Given the description of an element on the screen output the (x, y) to click on. 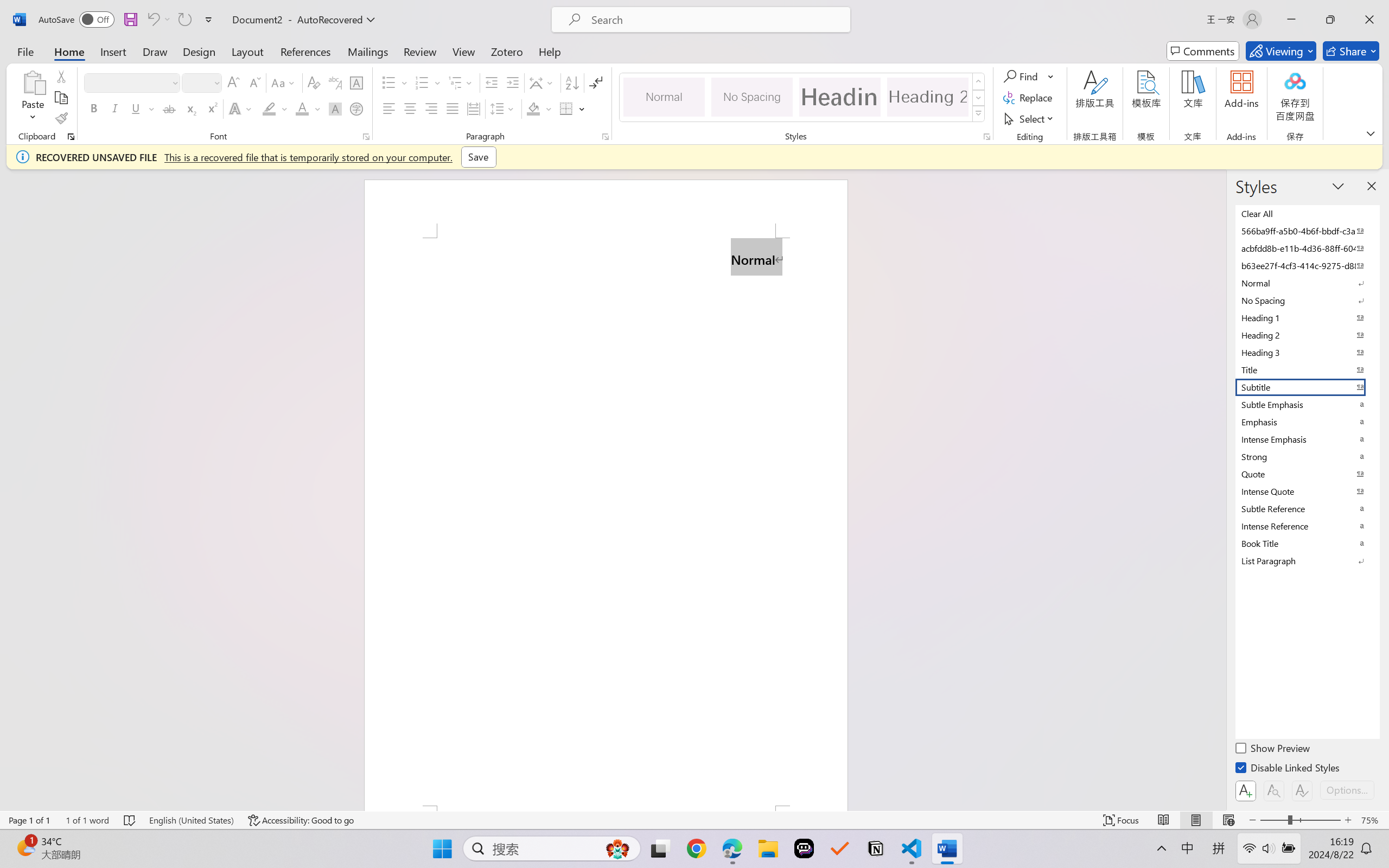
Class: NetUIButton (1301, 790)
Heading 1 (839, 96)
Subtle Reference (1306, 508)
Can't Repeat (184, 19)
Select (1030, 118)
Row Down (978, 97)
Character Border (356, 82)
